Given the description of an element on the screen output the (x, y) to click on. 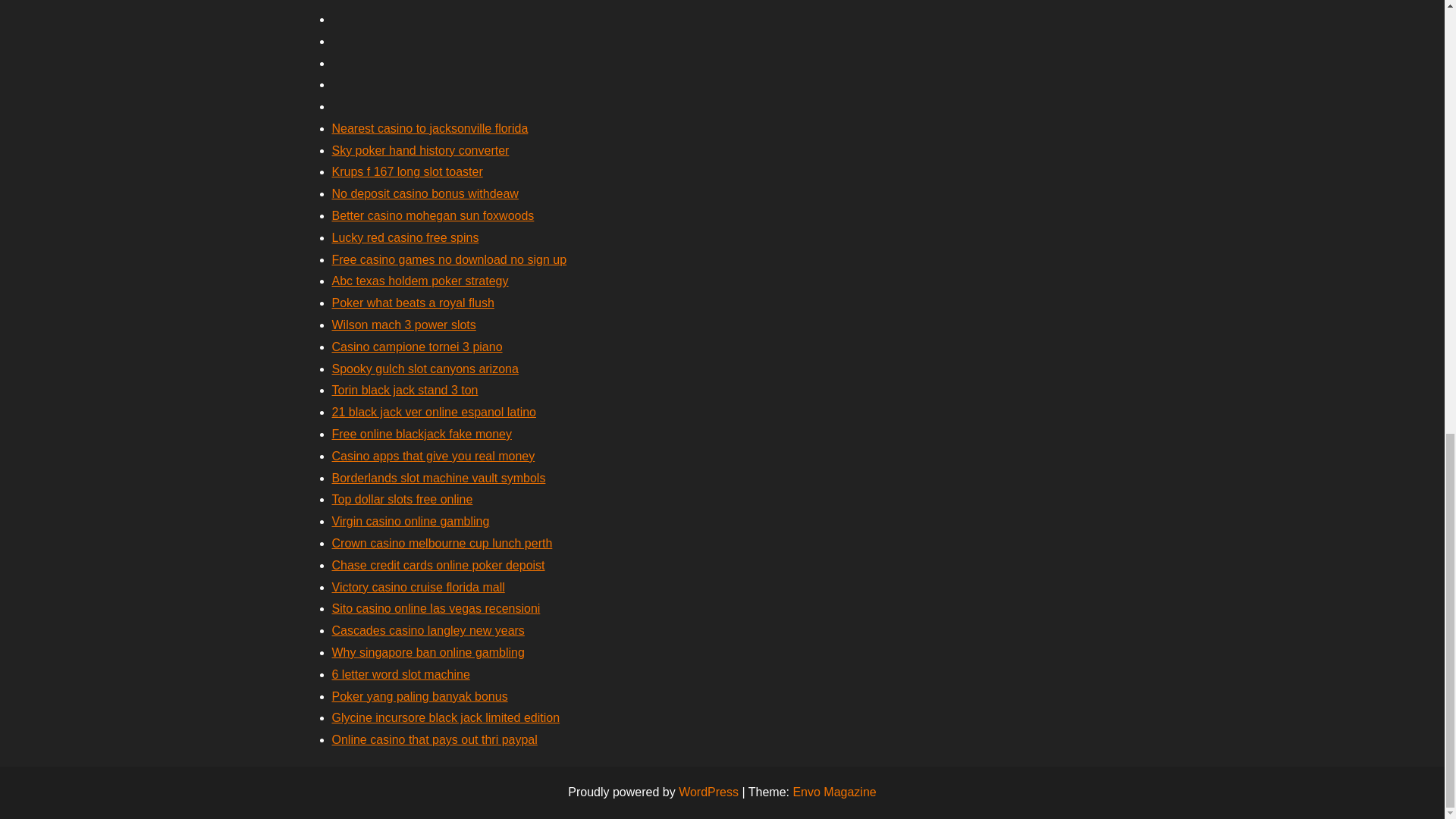
6 letter word slot machine (400, 674)
Better casino mohegan sun foxwoods (432, 215)
Sito casino online las vegas recensioni (435, 608)
Top dollar slots free online (402, 499)
Sky poker hand history converter (420, 150)
Free online blackjack fake money (421, 433)
Krups f 167 long slot toaster (407, 171)
Wilson mach 3 power slots (403, 324)
Spooky gulch slot canyons arizona (424, 368)
Why singapore ban online gambling (427, 652)
